Given the description of an element on the screen output the (x, y) to click on. 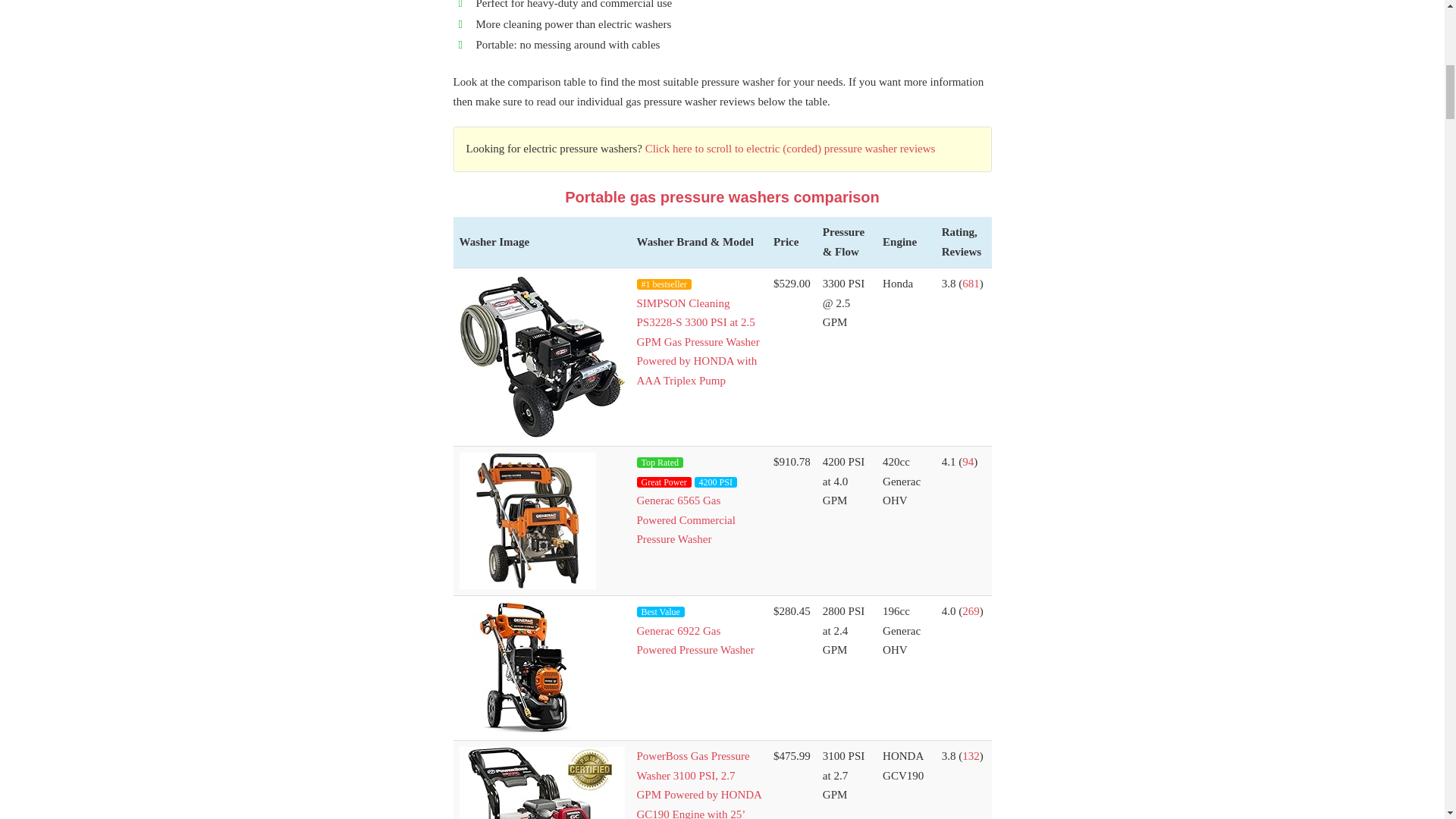
Generac 6565 Gas Powered Commercial Pressure Washer (686, 519)
Generac 6922 Gas Powered Pressure Washer (695, 640)
132 (970, 756)
269 (970, 611)
681 (970, 283)
94 (968, 461)
